Given the description of an element on the screen output the (x, y) to click on. 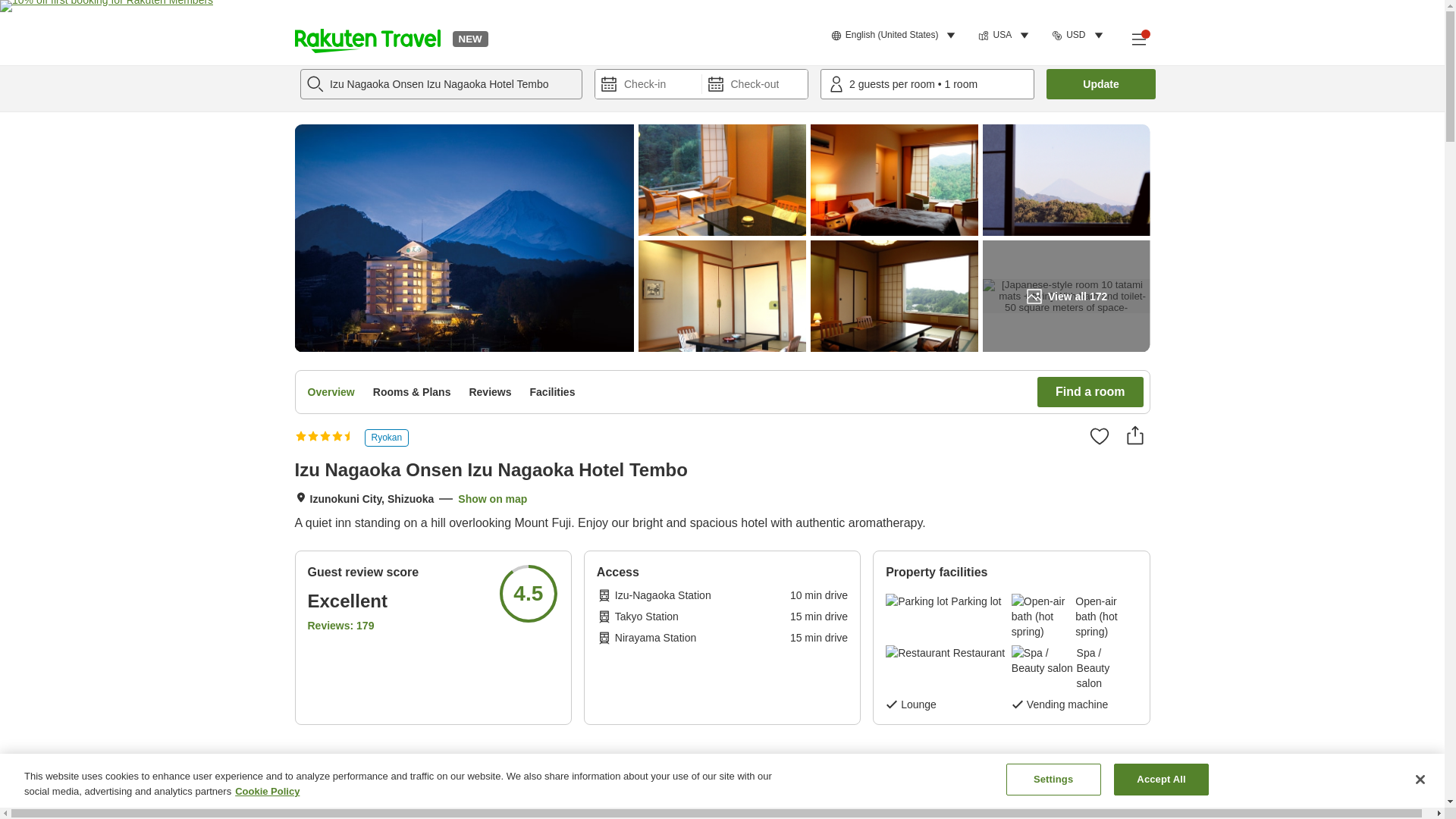
View all 172 (1066, 296)
Check-out (754, 83)
Overview (331, 391)
Update (1101, 83)
Find a room (1089, 391)
Izu Nagaoka Onsen Izu Nagaoka Hotel Tembo (440, 83)
NEW (469, 37)
Check-in (648, 83)
Izu Nagaoka Onsen Izu Nagaoka Hotel Tembo (440, 83)
